Given the description of an element on the screen output the (x, y) to click on. 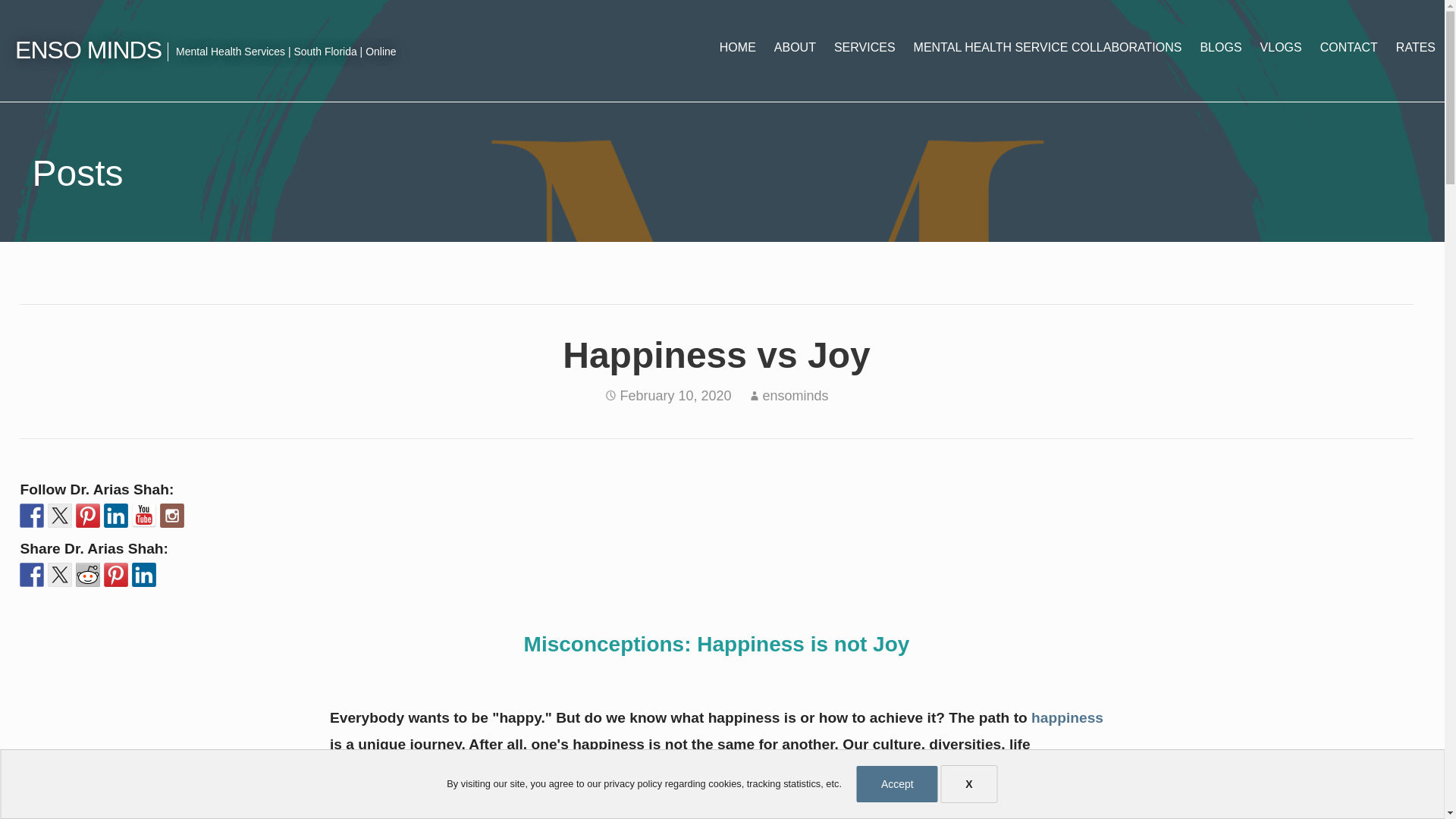
Accept (897, 783)
Posts by ensominds (795, 395)
MENTAL HEALTH SERVICE COLLABORATIONS (1047, 47)
ENSO MINDS (87, 49)
X (968, 783)
